Given the description of an element on the screen output the (x, y) to click on. 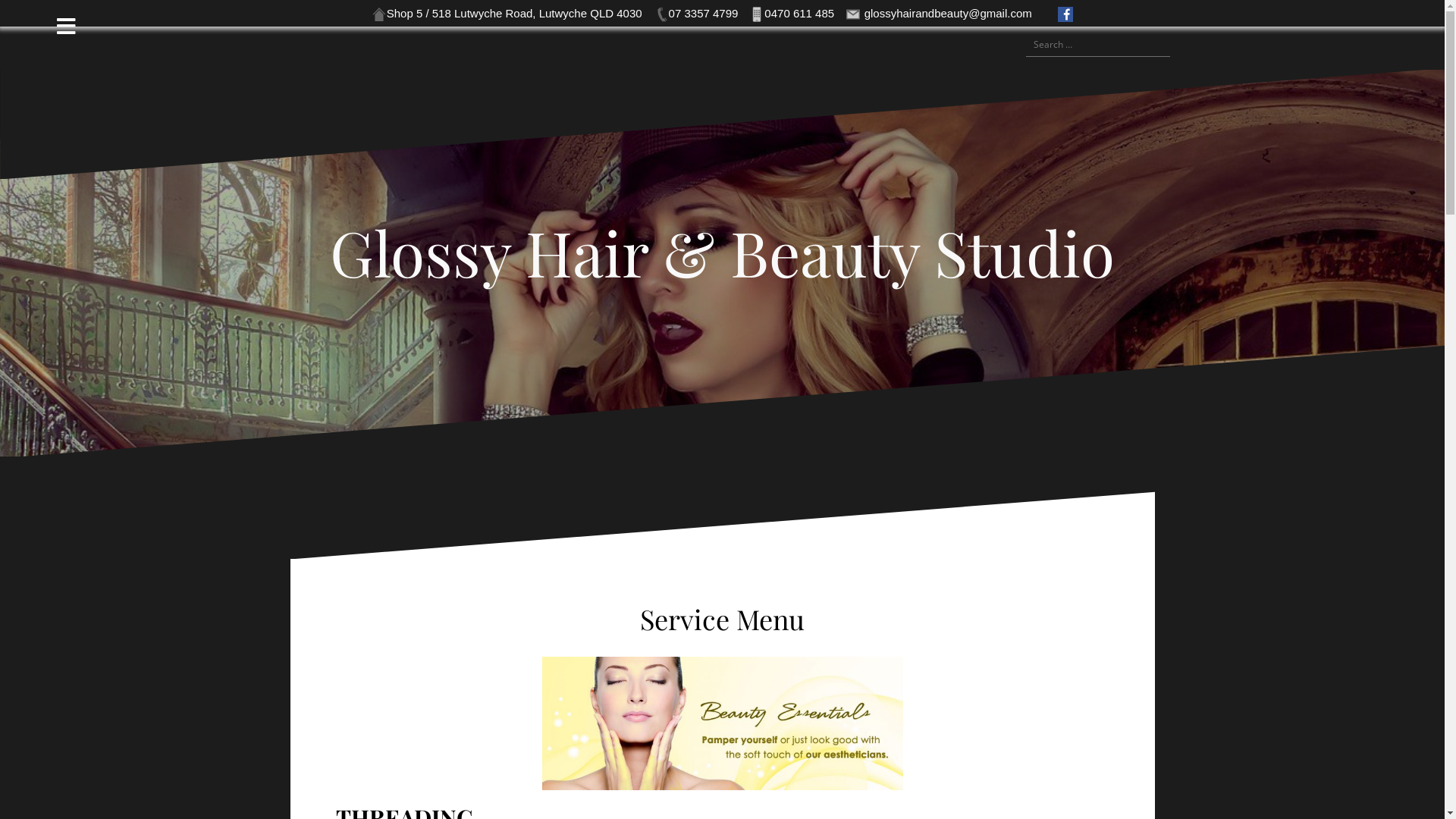
Glossy Hair & Beauty Studio Element type: text (721, 251)
07 3357 4799 Element type: text (695, 12)
Service Menu Element type: text (933, 44)
0470 611 485 Element type: text (791, 12)
Shop 5 / 518 Lutwyche Road, Lutwyche QLD 4030 Element type: text (506, 12)
Request for an Appointment Element type: text (952, 44)
glossyhairandbeauty@gmail.com Element type: text (940, 12)
Skip to content Element type: text (0, 26)
Terms & Conditions Element type: text (1006, 44)
Contact Us Element type: text (970, 44)
Search Element type: text (29, 20)
Privacy Policy Element type: text (988, 44)
